Given the description of an element on the screen output the (x, y) to click on. 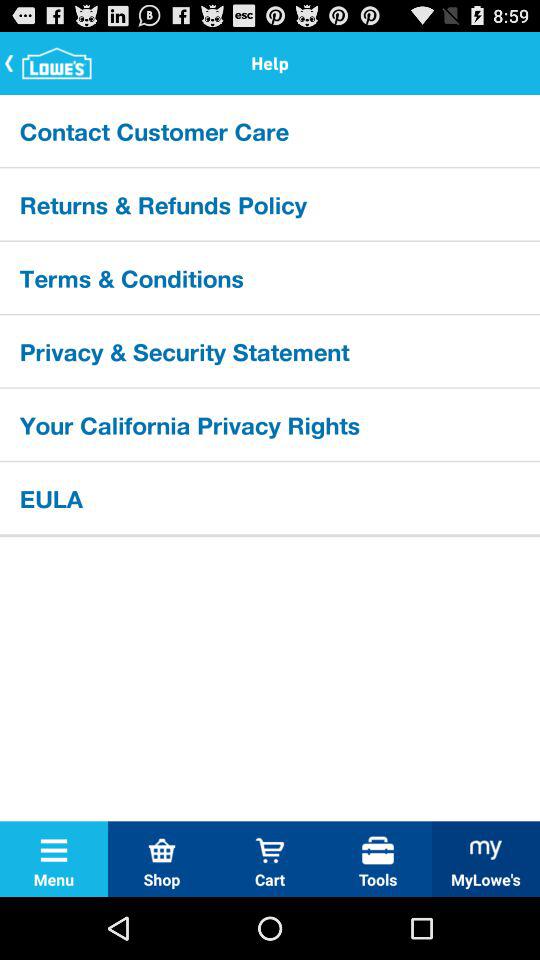
open terms & conditions item (270, 277)
